Given the description of an element on the screen output the (x, y) to click on. 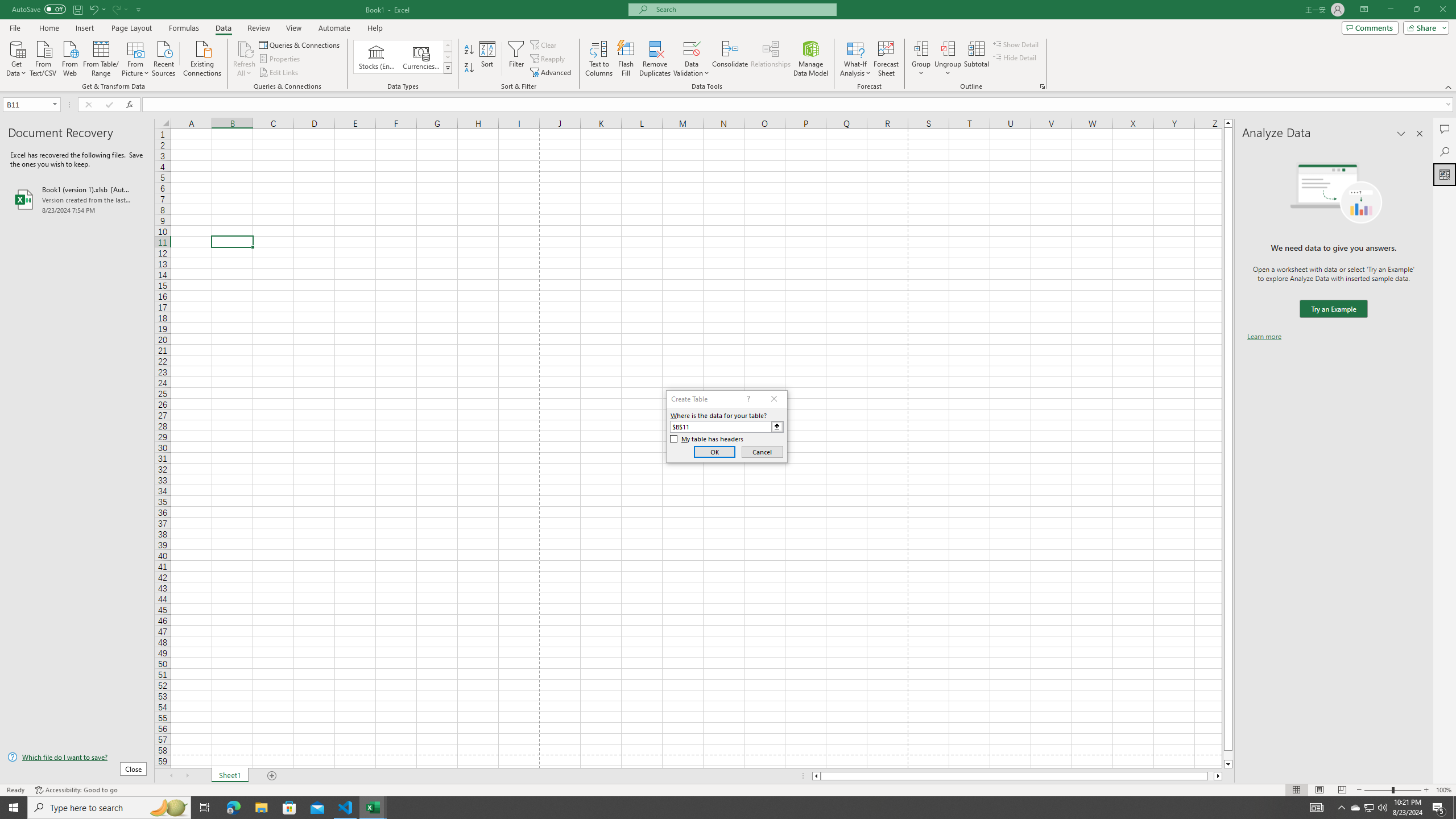
Consolidate... (729, 58)
